Given the description of an element on the screen output the (x, y) to click on. 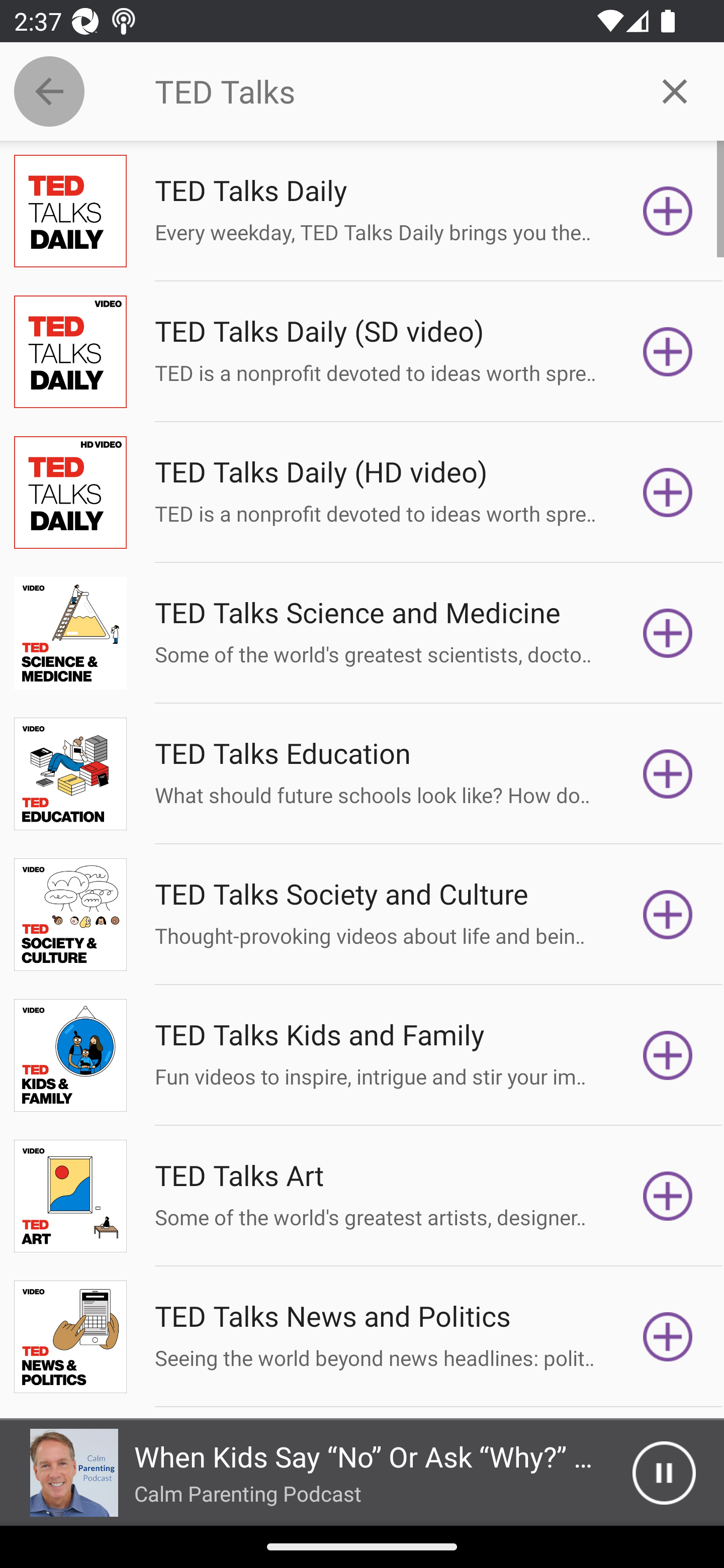
Collapse (49, 91)
Clear query (674, 90)
TED Talks (389, 91)
Subscribe (667, 211)
Subscribe (667, 350)
Subscribe (667, 491)
Subscribe (667, 633)
Subscribe (667, 773)
Subscribe (667, 913)
Subscribe (667, 1054)
Subscribe (667, 1195)
Subscribe (667, 1336)
Pause (663, 1472)
